Given the description of an element on the screen output the (x, y) to click on. 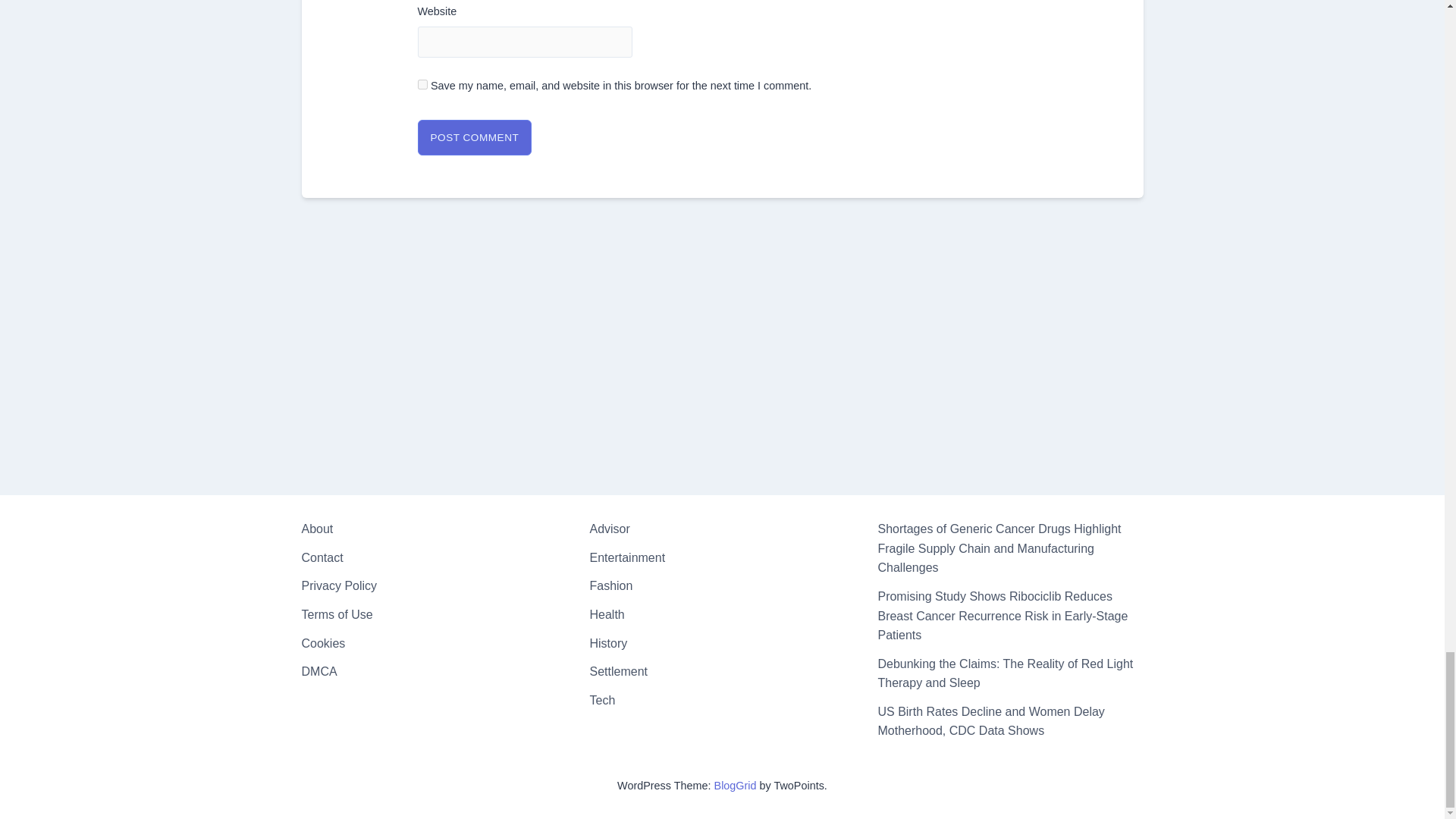
Settlement (617, 671)
Tech (601, 699)
DMCA (319, 671)
Post Comment (473, 137)
Post Comment (473, 137)
Health (606, 614)
Advisor (608, 528)
Privacy Policy (339, 585)
Cookies (323, 642)
History (608, 642)
Contact (322, 557)
Terms of Use (336, 614)
